Given the description of an element on the screen output the (x, y) to click on. 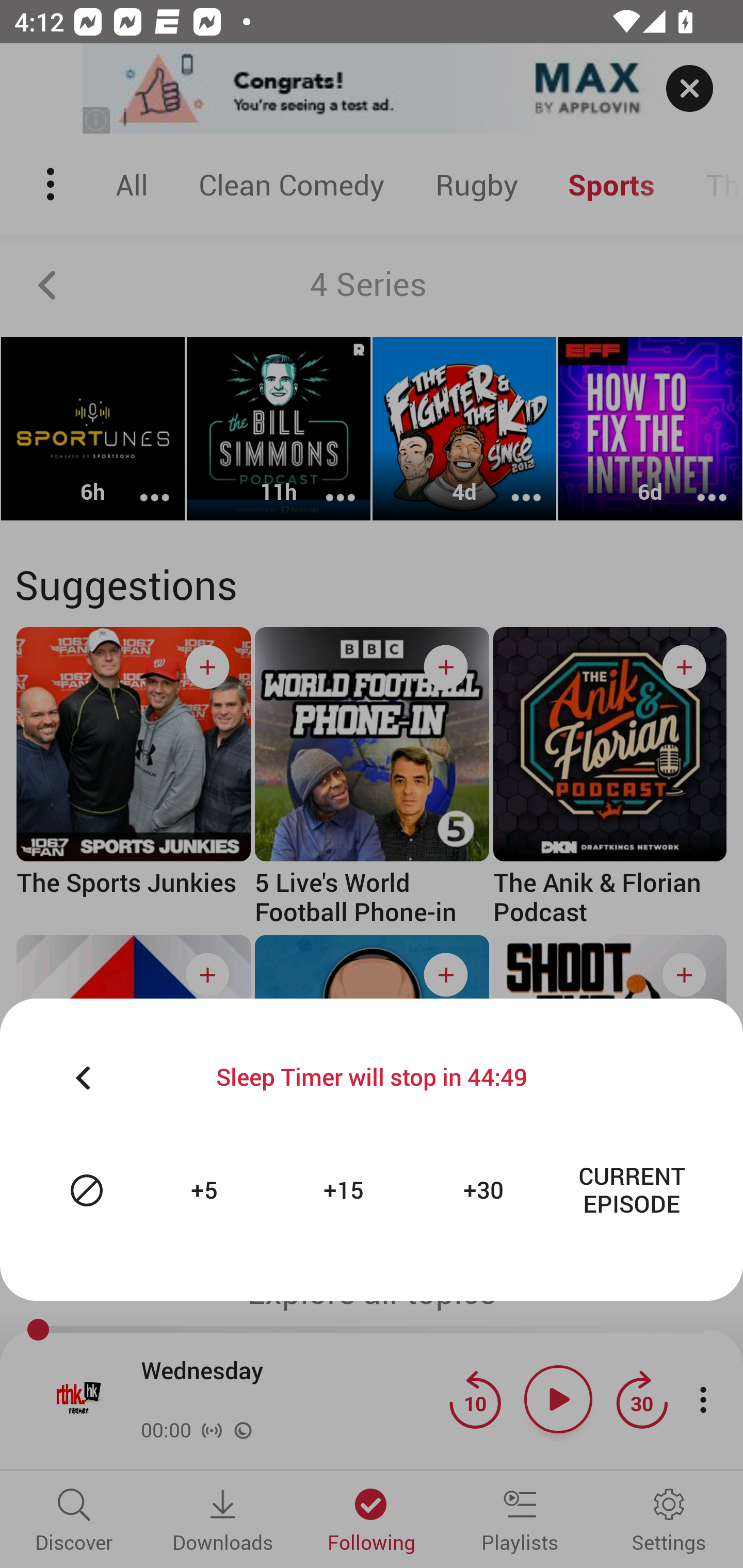
Reset (86, 1190)
+5  (206, 1190)
+15  (346, 1190)
+30  (486, 1190)
CURRENT
EPISODE (631, 1190)
